Given the description of an element on the screen output the (x, y) to click on. 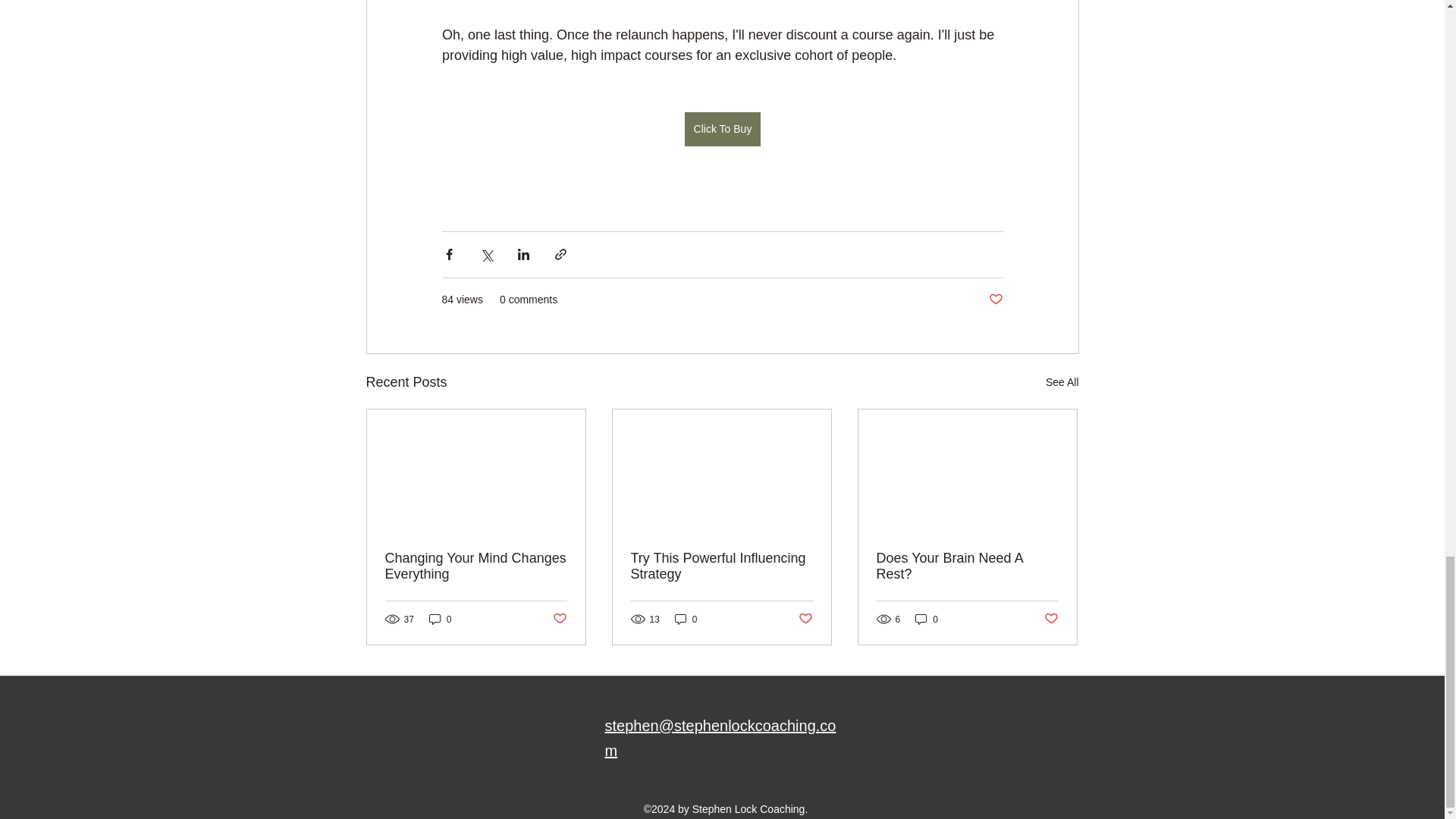
0 (440, 618)
0 (926, 618)
Changing Your Mind Changes Everything (476, 565)
Try This Powerful Influencing Strategy (721, 565)
Post not marked as liked (995, 299)
Post not marked as liked (1050, 618)
Does Your Brain Need A Rest? (967, 565)
Click To Buy (722, 130)
0 (685, 618)
See All (1061, 382)
